Given the description of an element on the screen output the (x, y) to click on. 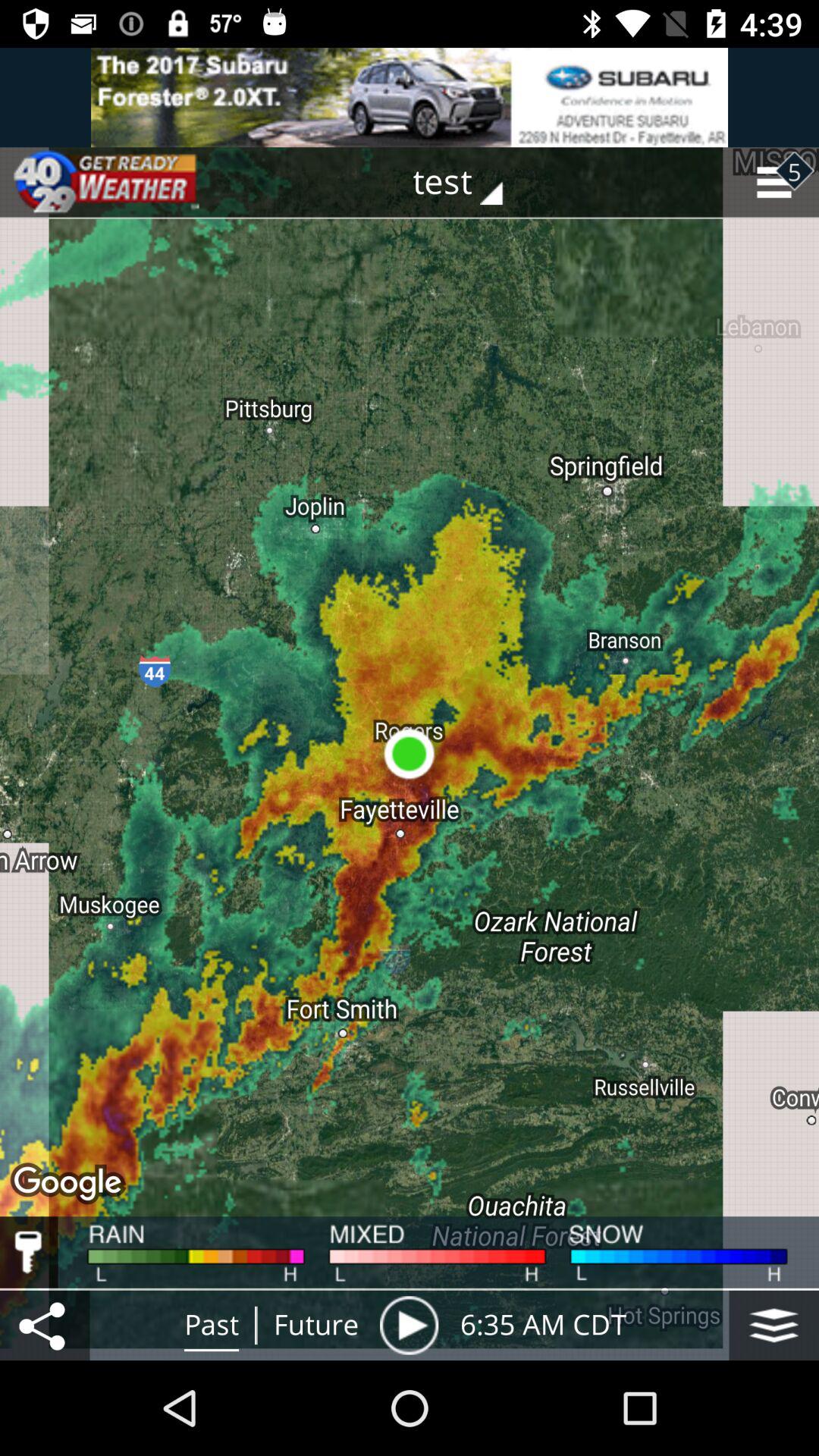
go to share (44, 1325)
